Given the description of an element on the screen output the (x, y) to click on. 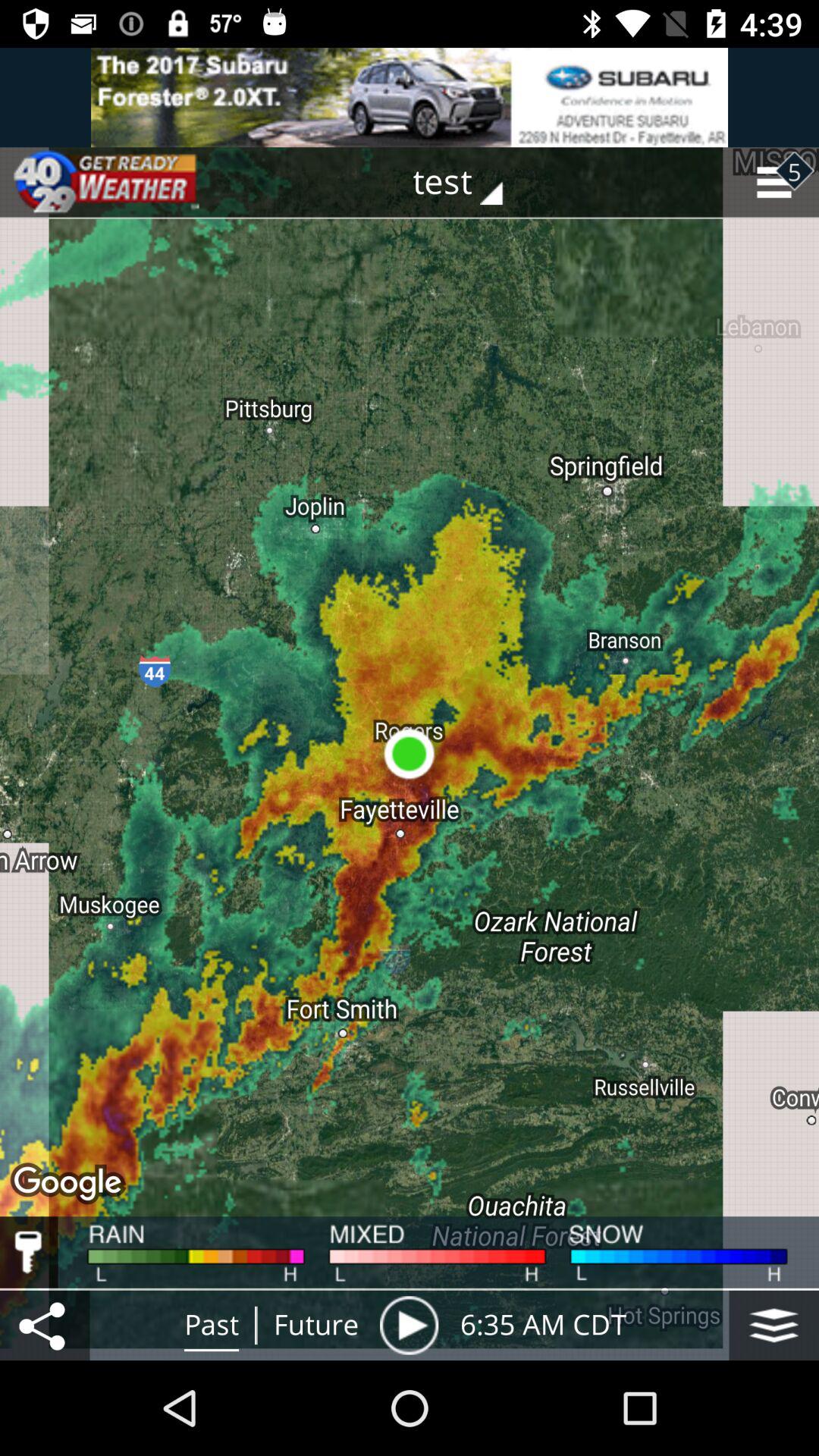
go to share (44, 1325)
